Given the description of an element on the screen output the (x, y) to click on. 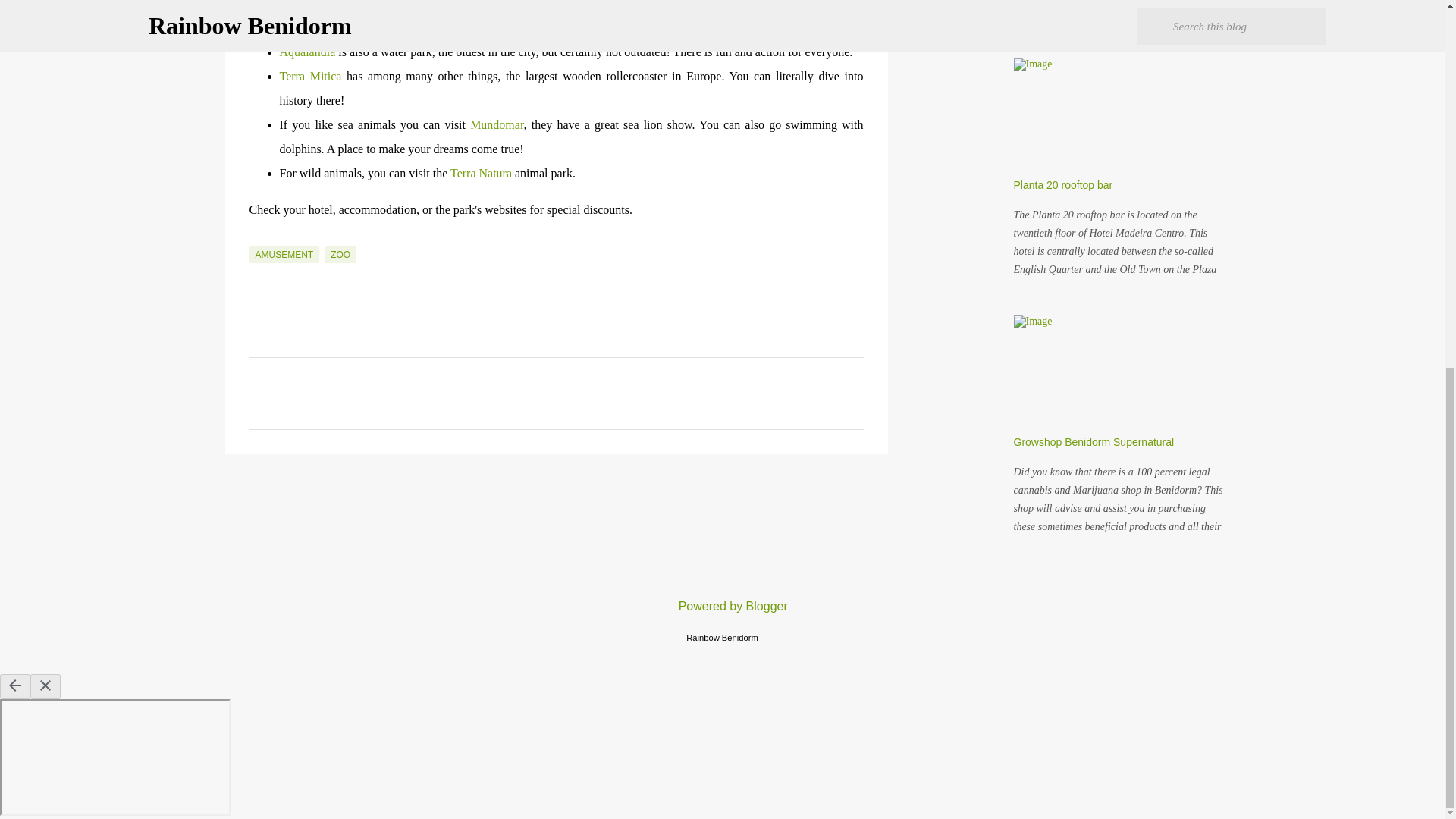
Planta 20 rooftop bar (1062, 184)
Terra Natura (480, 173)
ZOO (340, 254)
Powered by Blogger (721, 605)
Growshop Benidorm Supernatural (1093, 441)
Aqua Natura (310, 4)
Email Post (257, 236)
Terra Mitica (309, 75)
Aqualandia (306, 51)
AMUSEMENT (283, 254)
Mundomar (496, 124)
